Given the description of an element on the screen output the (x, y) to click on. 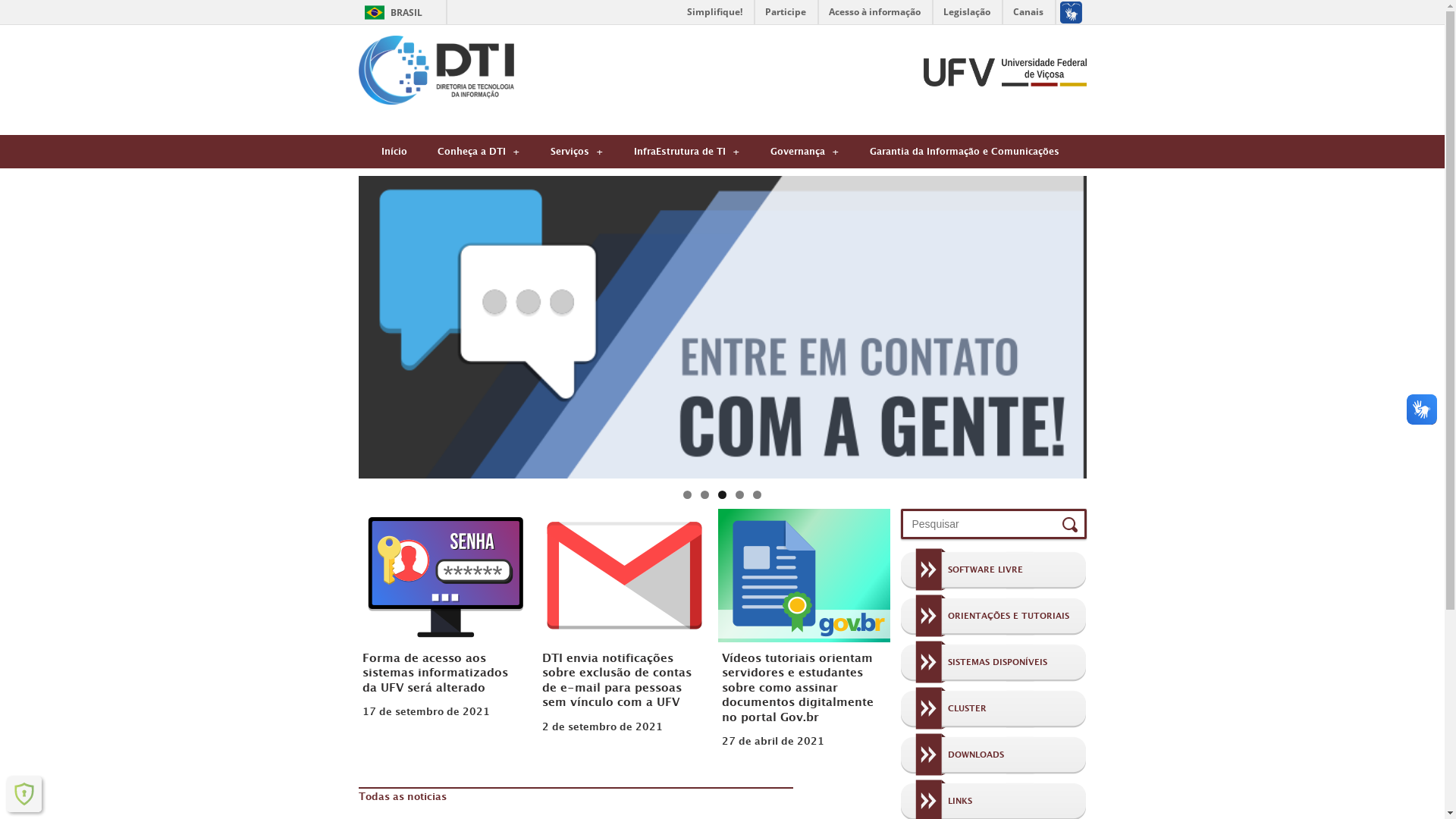
2 Element type: text (704, 494)
Shield Security Element type: hover (24, 793)
Todas as noticias Element type: text (401, 798)
4 Element type: text (739, 494)
InfraEstrutura de TI Element type: text (686, 151)
SOFTWARE LIVRE Element type: text (961, 571)
5 Element type: text (757, 494)
DOWNLOADS Element type: text (952, 756)
1 Element type: text (687, 494)
CLUSTER Element type: text (943, 710)
banner_contato_atendimento Element type: hover (721, 326)
3 Element type: text (722, 494)
LINKS Element type: text (936, 802)
BRASIL Element type: text (389, 12)
